Given the description of an element on the screen output the (x, y) to click on. 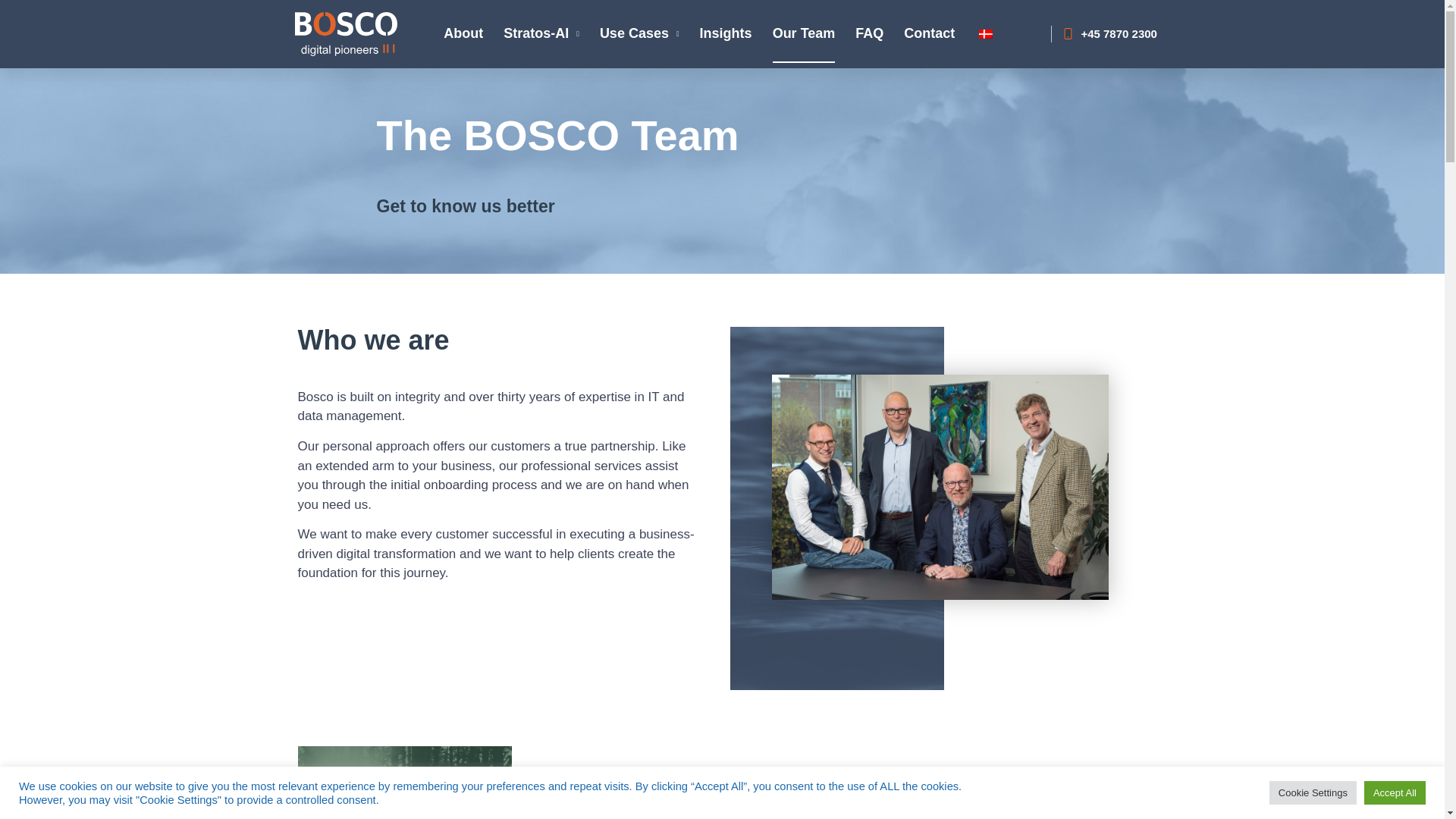
Picture2 (503, 814)
Use Cases (639, 33)
Stratos-AI (541, 33)
Insights (726, 33)
Danish (985, 33)
Our Team (804, 33)
